Given the description of an element on the screen output the (x, y) to click on. 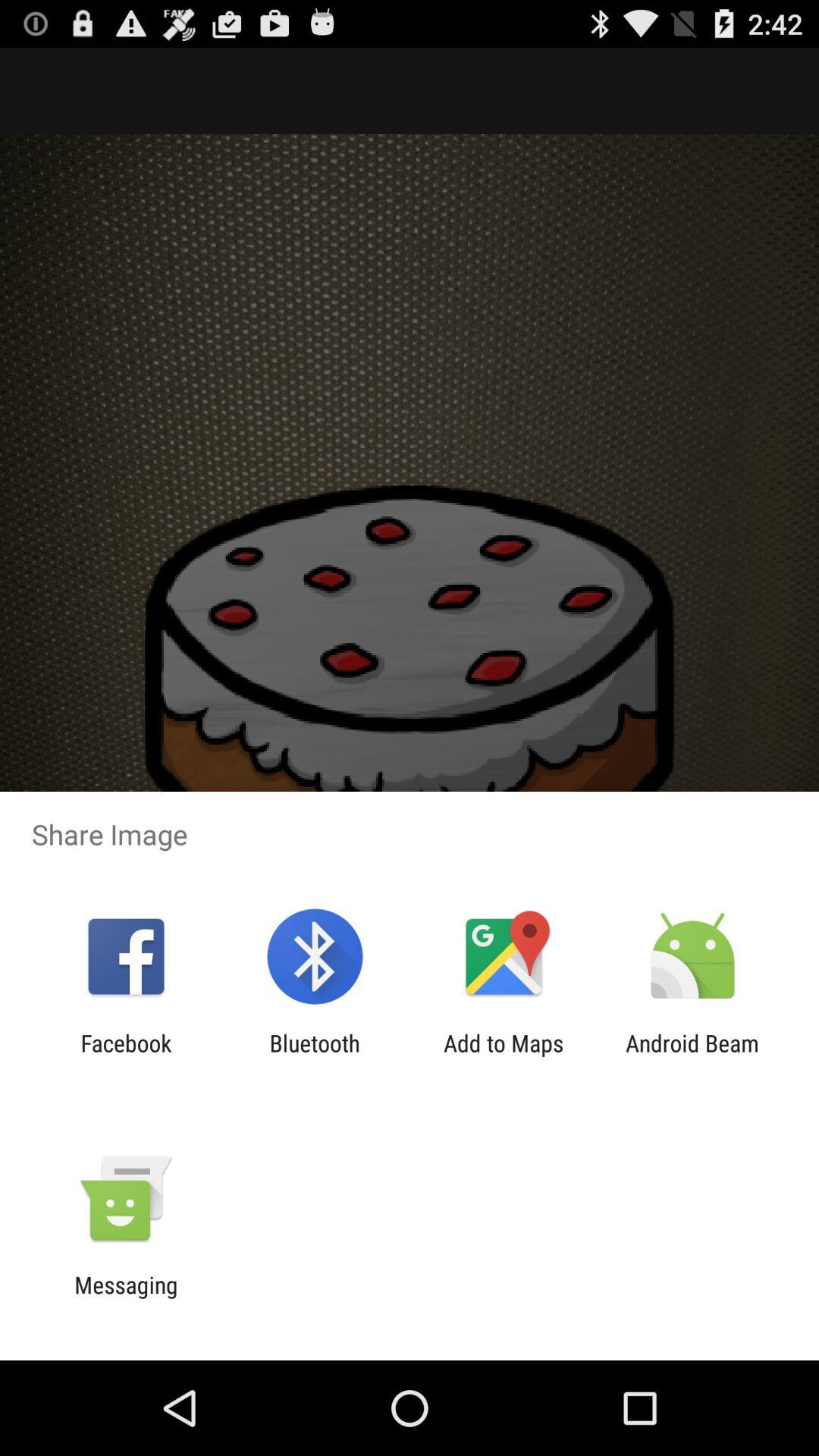
open the item to the left of bluetooth item (125, 1056)
